Given the description of an element on the screen output the (x, y) to click on. 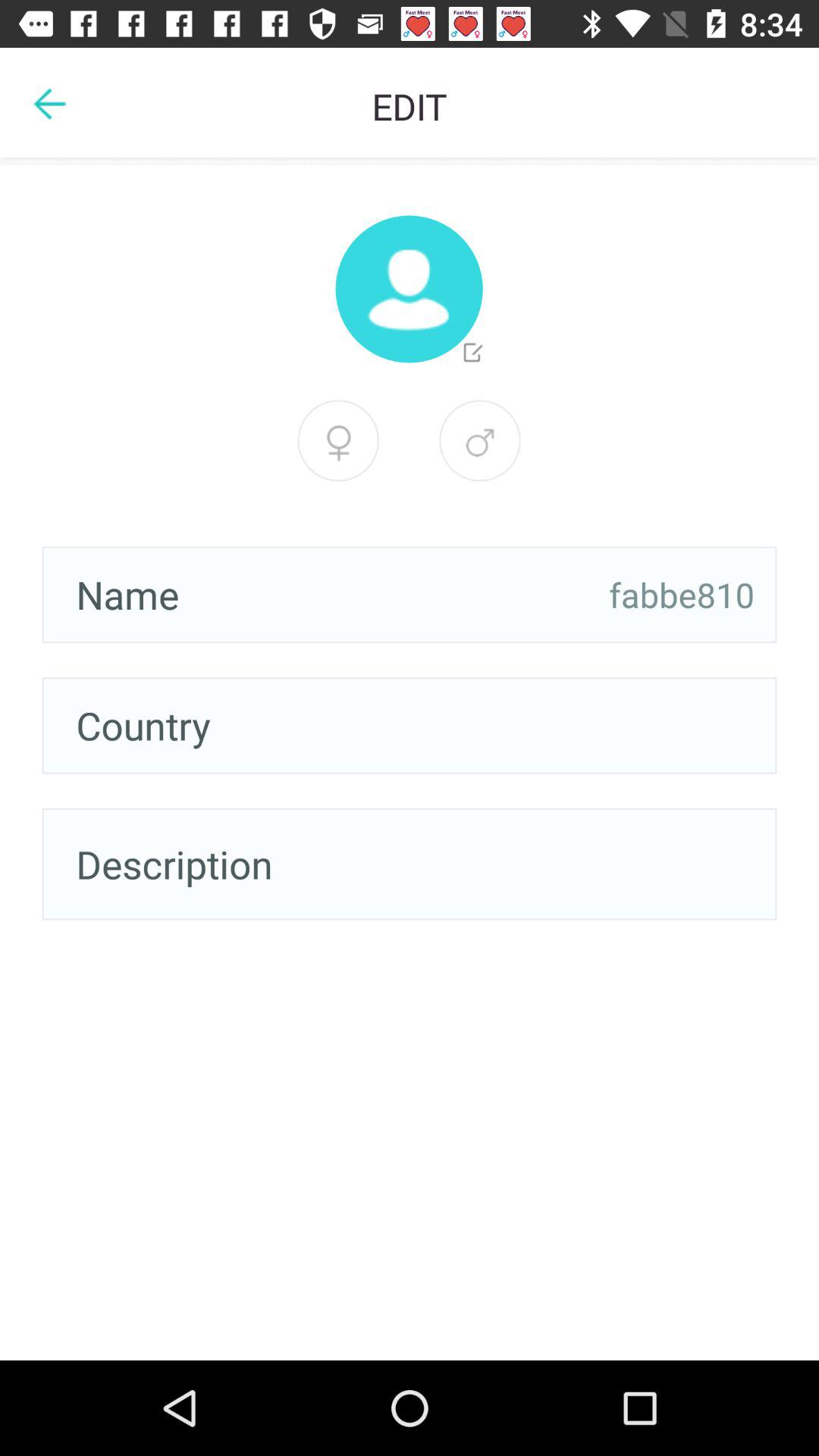
male option (338, 440)
